Given the description of an element on the screen output the (x, y) to click on. 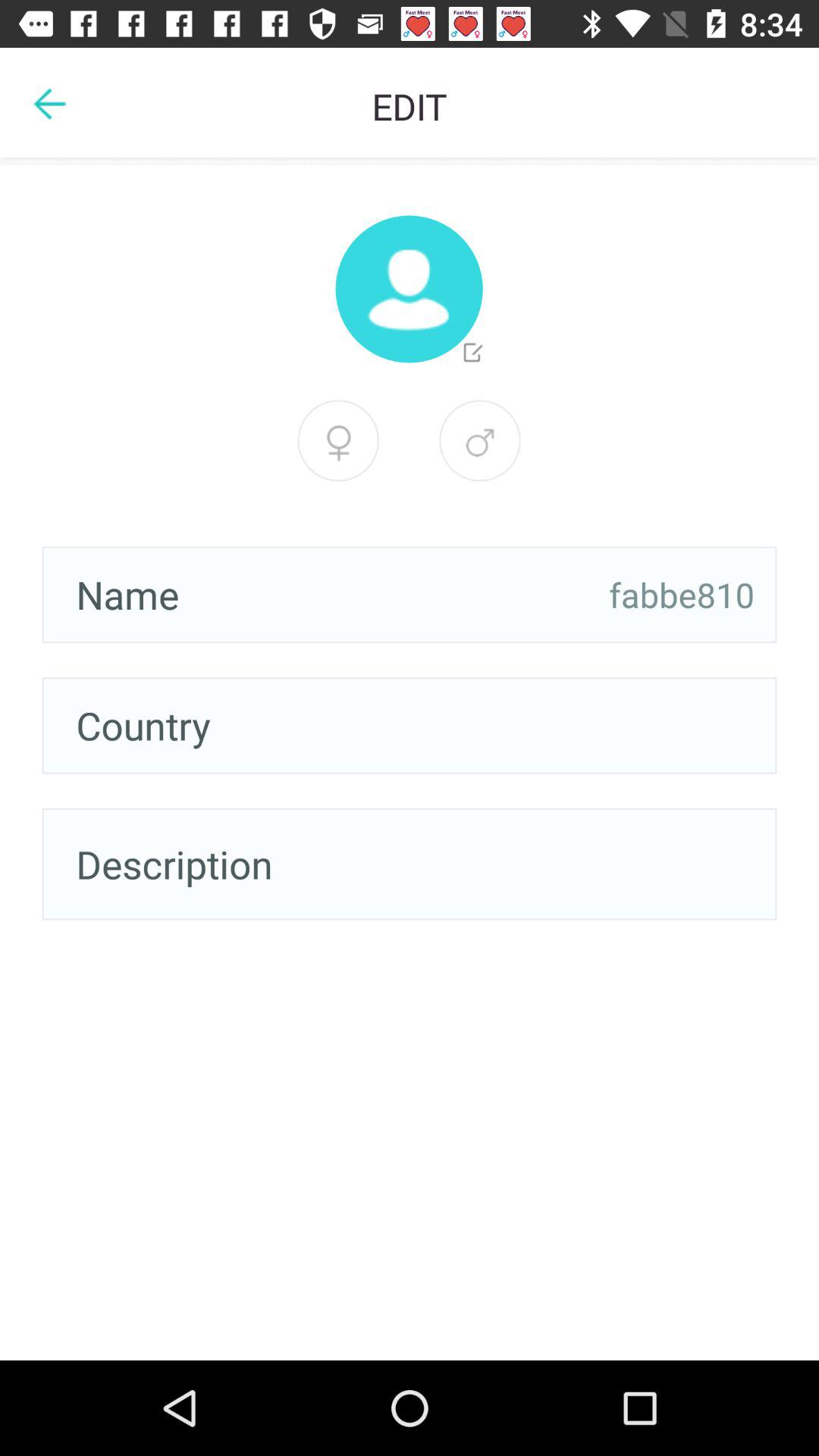
male option (338, 440)
